Given the description of an element on the screen output the (x, y) to click on. 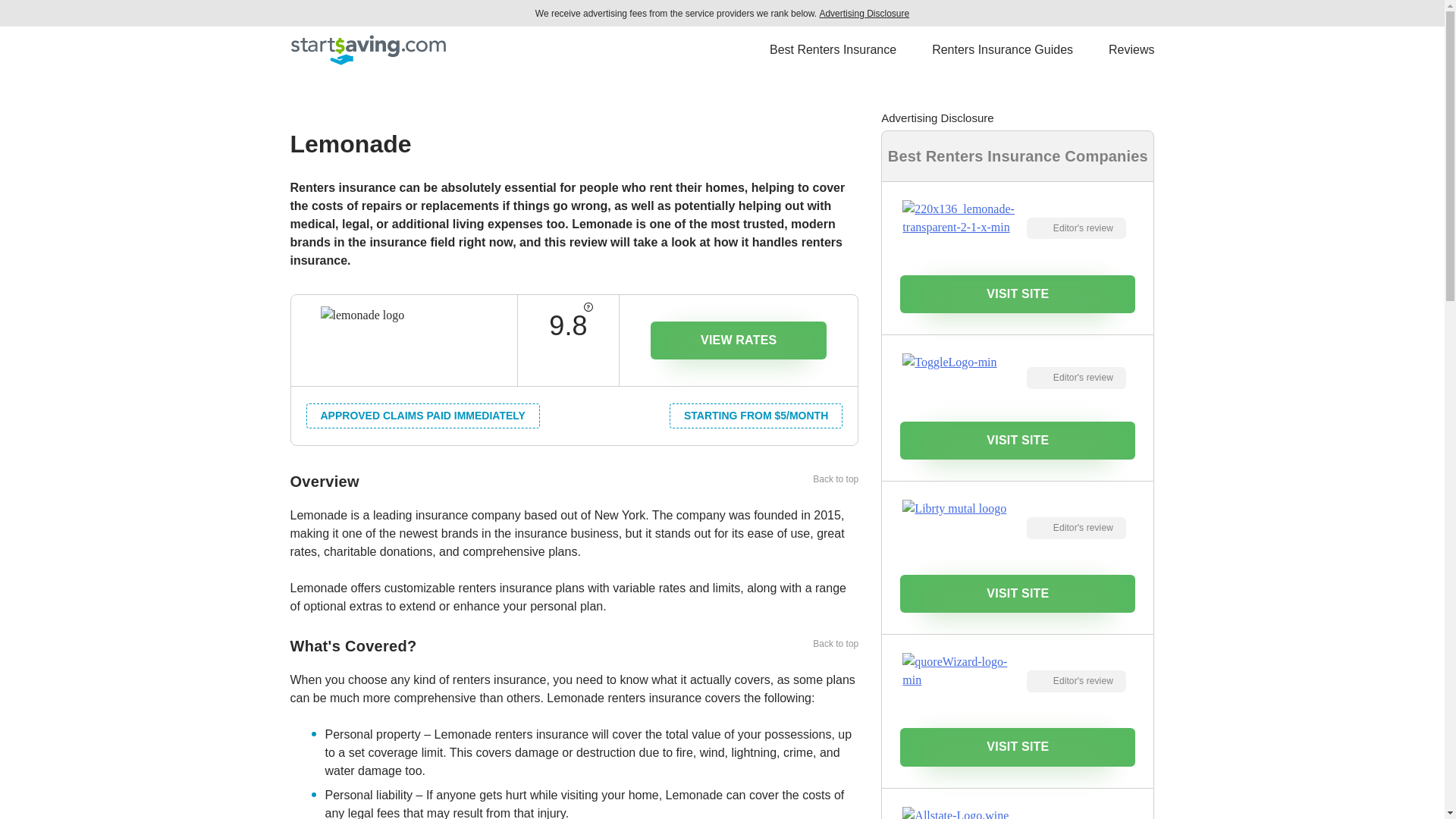
Renters Insurance Guides (1002, 49)
VISIT SITE (1017, 293)
Editor's review (1075, 228)
Editor's review (1075, 681)
VISIT SITE (1017, 440)
VISIT SITE (1017, 593)
Best Renters Insurance (833, 49)
Editor's review (1075, 527)
Editor's review (1075, 377)
VIEW RATES (738, 340)
Reviews (1131, 49)
VISIT SITE (1017, 746)
